Given the description of an element on the screen output the (x, y) to click on. 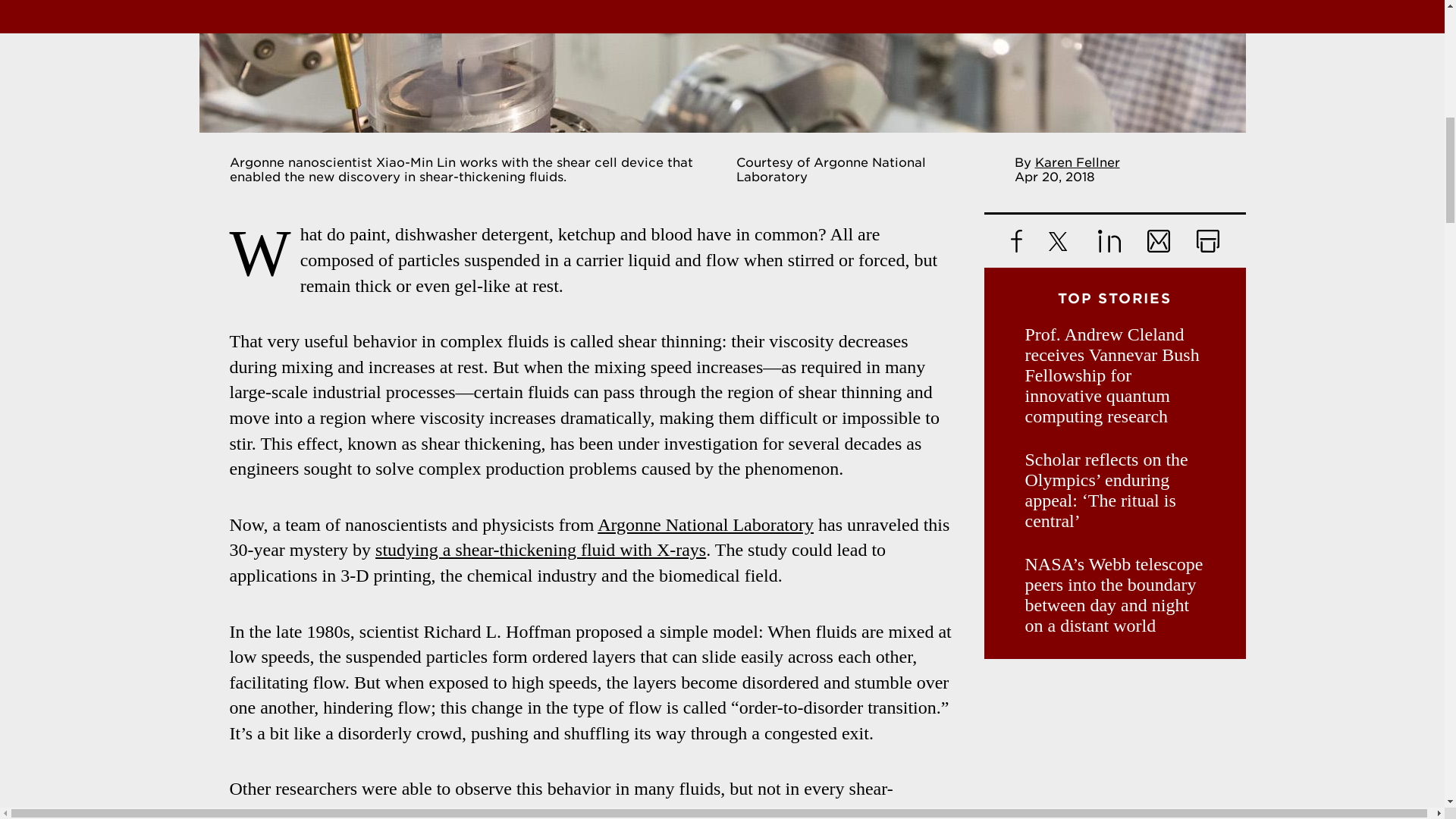
Share as an Email (1158, 241)
Karen Fellner (1076, 162)
Argonne National Laboratory (704, 524)
studying a shear-thickening fluid with X-rays (540, 549)
LinkedIn (1109, 241)
X (1059, 240)
Print Content (1208, 241)
Share to Facebook (1016, 241)
